Given the description of an element on the screen output the (x, y) to click on. 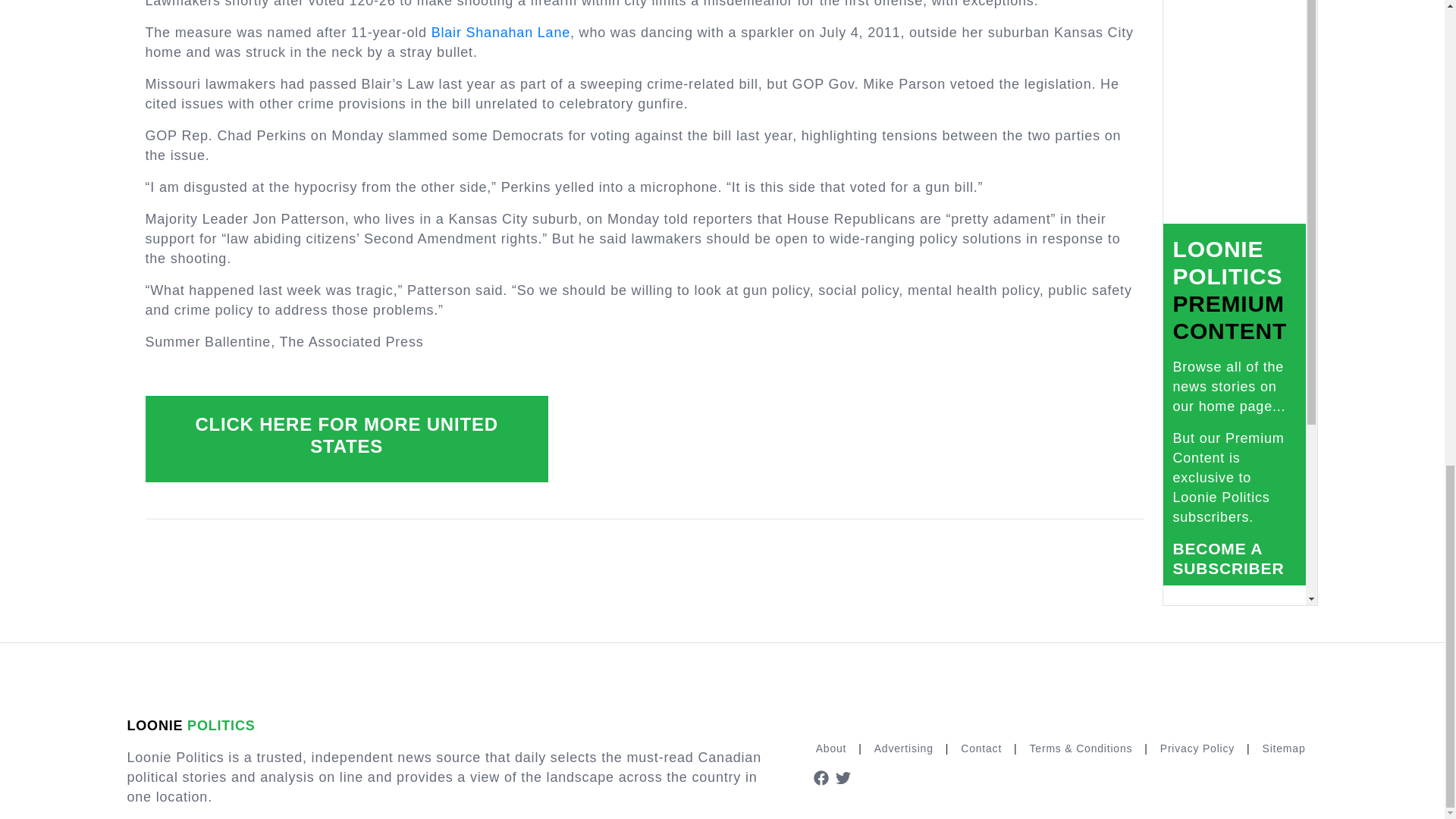
Advertising (902, 747)
Contact (981, 747)
Blair Shanahan Lane (500, 32)
Privacy Policy (1197, 747)
About (831, 747)
Sitemap (1283, 747)
